Given the description of an element on the screen output the (x, y) to click on. 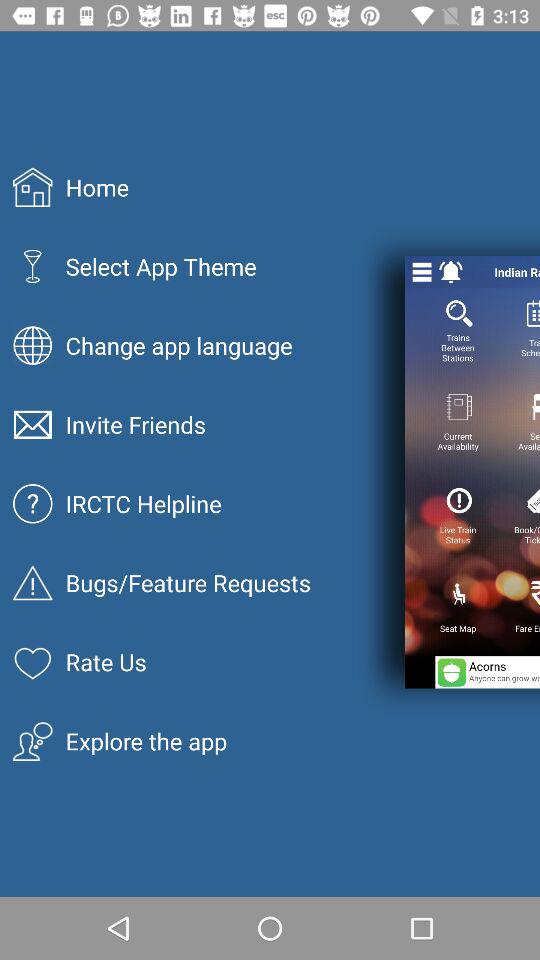
choose the item above the trains between stations icon (422, 271)
